Given the description of an element on the screen output the (x, y) to click on. 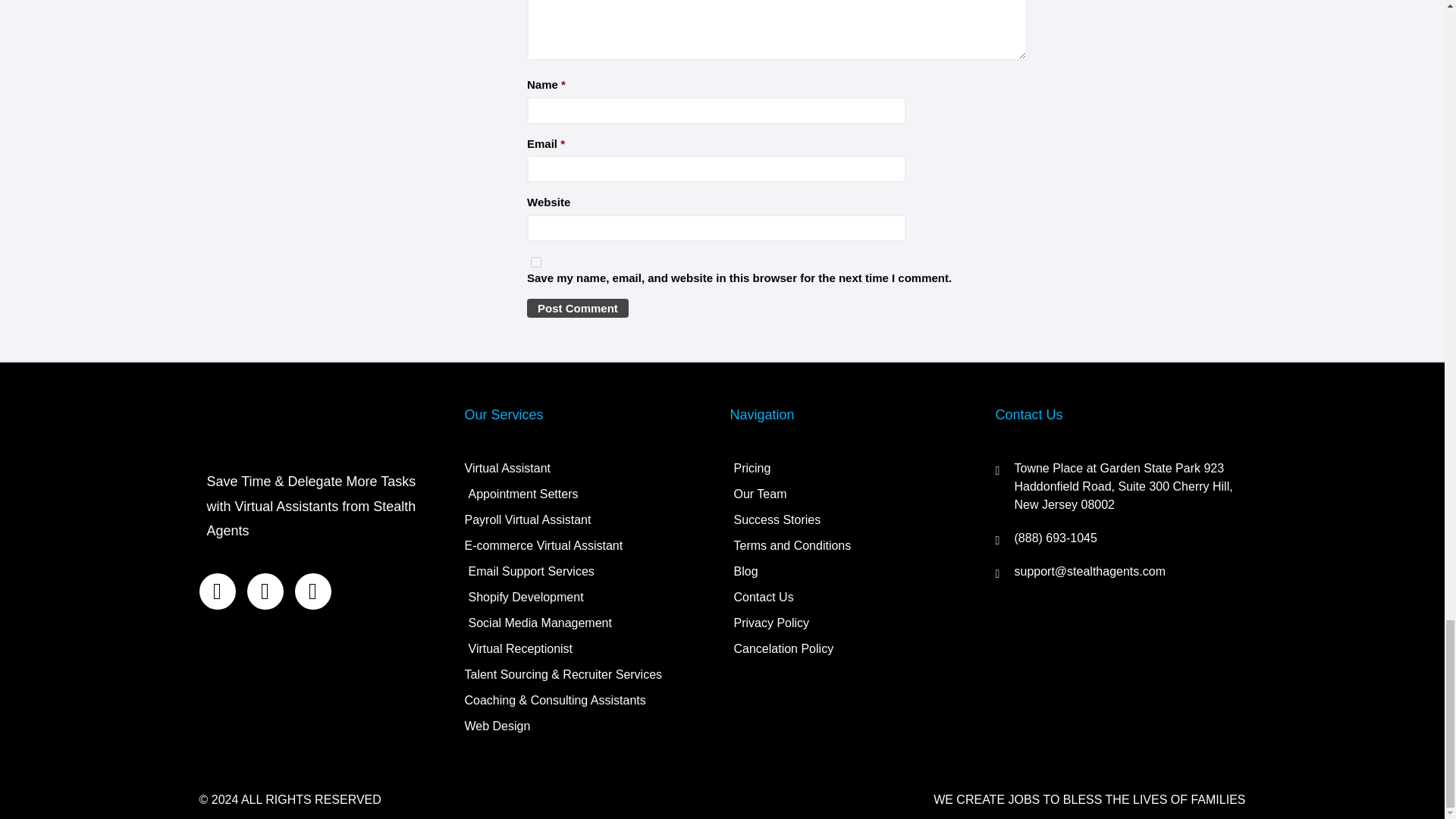
yes (536, 262)
Post Comment (577, 307)
